Given the description of an element on the screen output the (x, y) to click on. 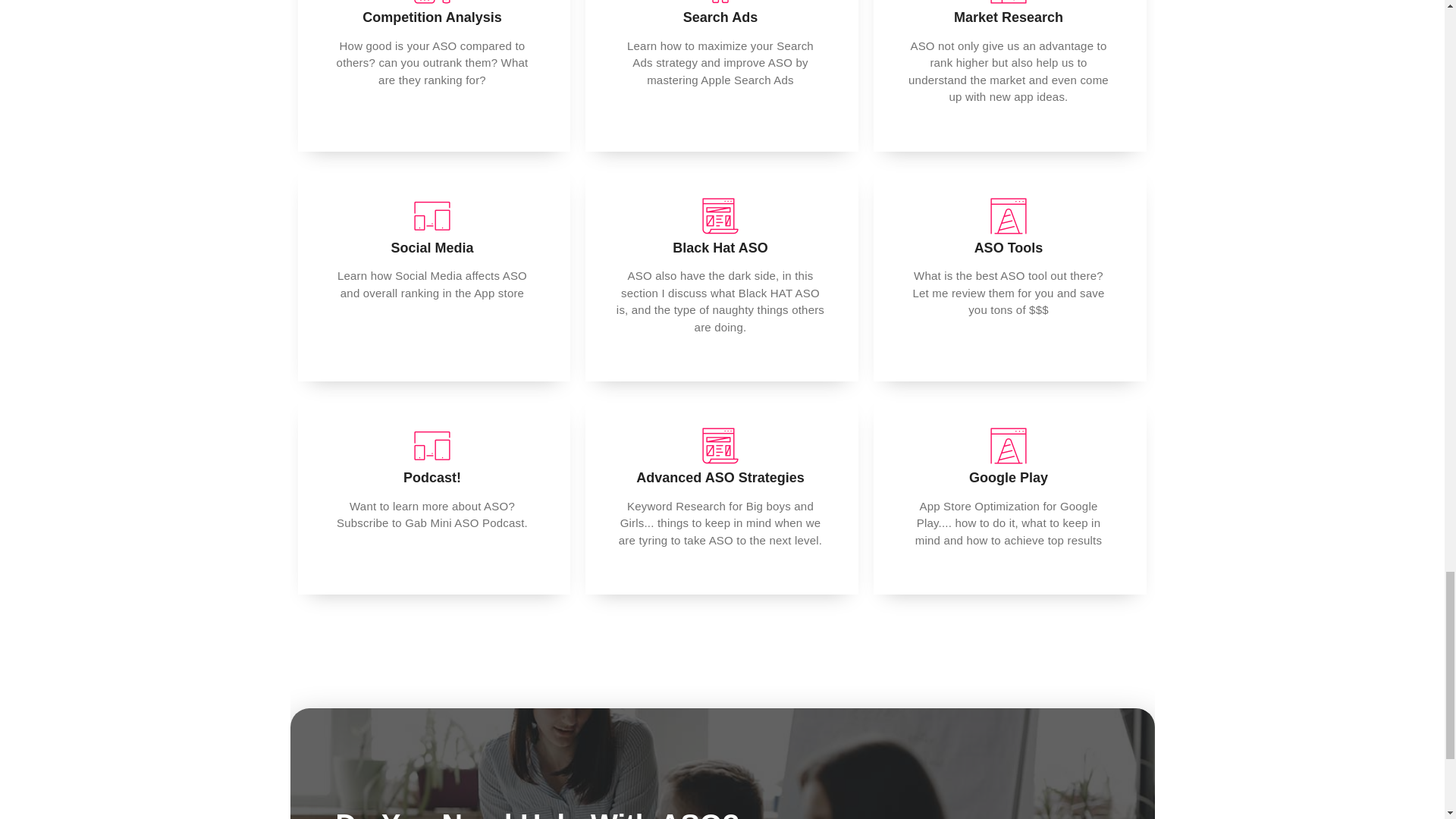
4.png (720, 2)
5.png (1008, 2)
Google Play (1008, 477)
3.png (432, 216)
13.png (720, 445)
6.png (1008, 445)
Advanced ASO Strategies (719, 477)
ASO Tools (1008, 247)
6.png (1008, 216)
Podcast! (432, 477)
12.png (432, 2)
3.png (432, 445)
Competition Analysis (431, 17)
Search Ads (719, 17)
Social Media (431, 247)
